Given the description of an element on the screen output the (x, y) to click on. 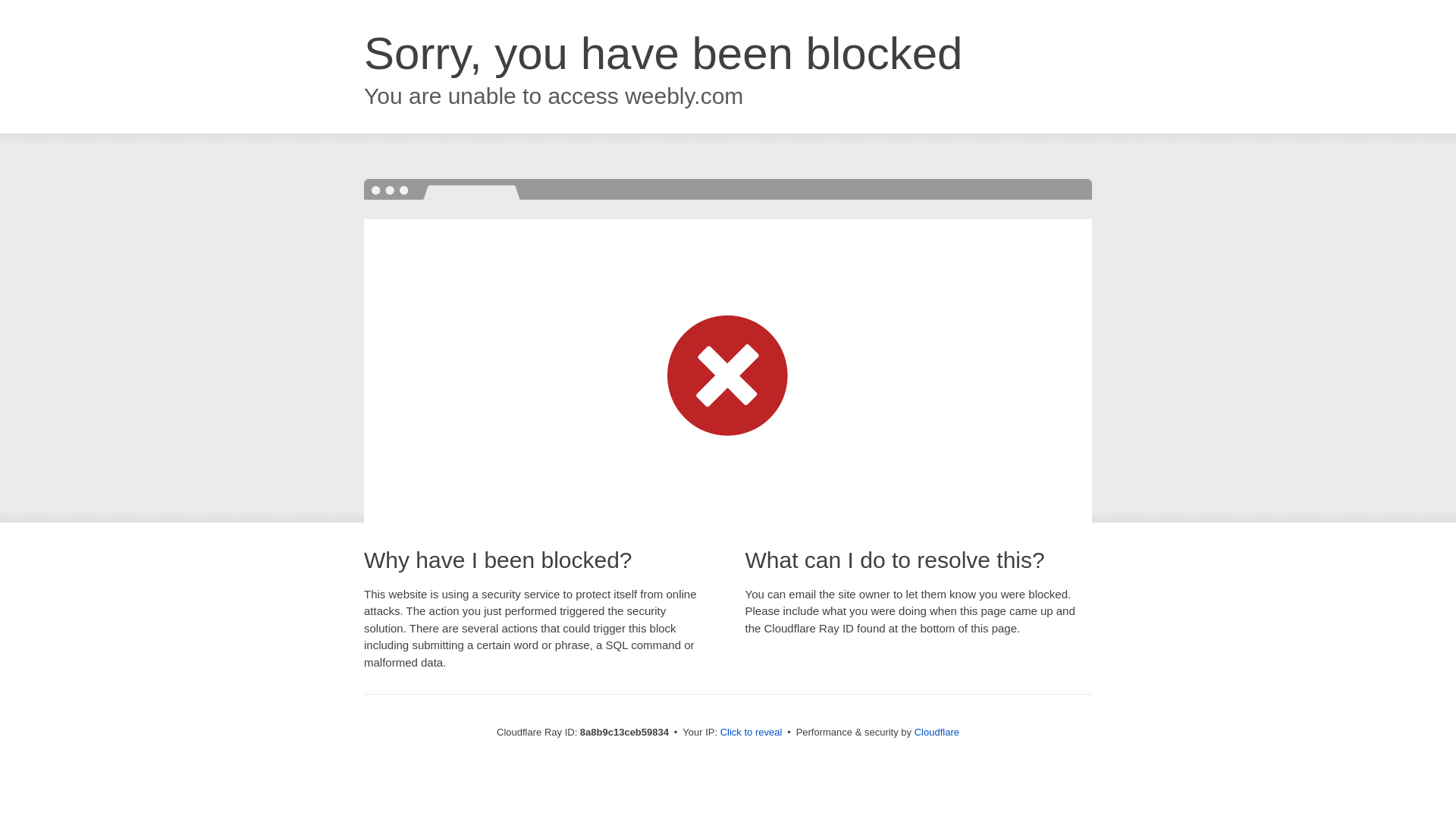
Cloudflare (936, 731)
Click to reveal (751, 732)
